Given the description of an element on the screen output the (x, y) to click on. 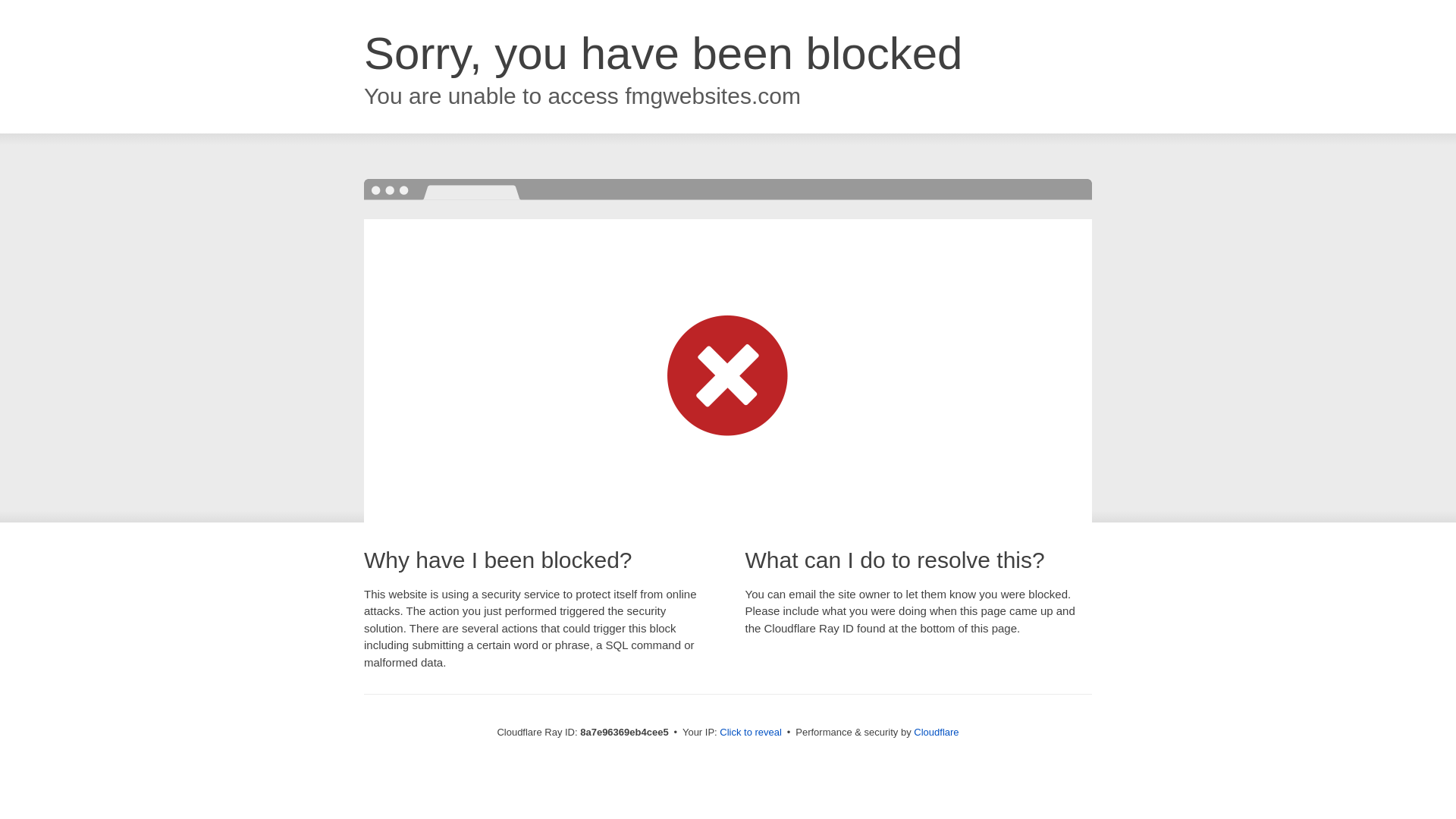
Cloudflare (936, 731)
Click to reveal (750, 732)
